Given the description of an element on the screen output the (x, y) to click on. 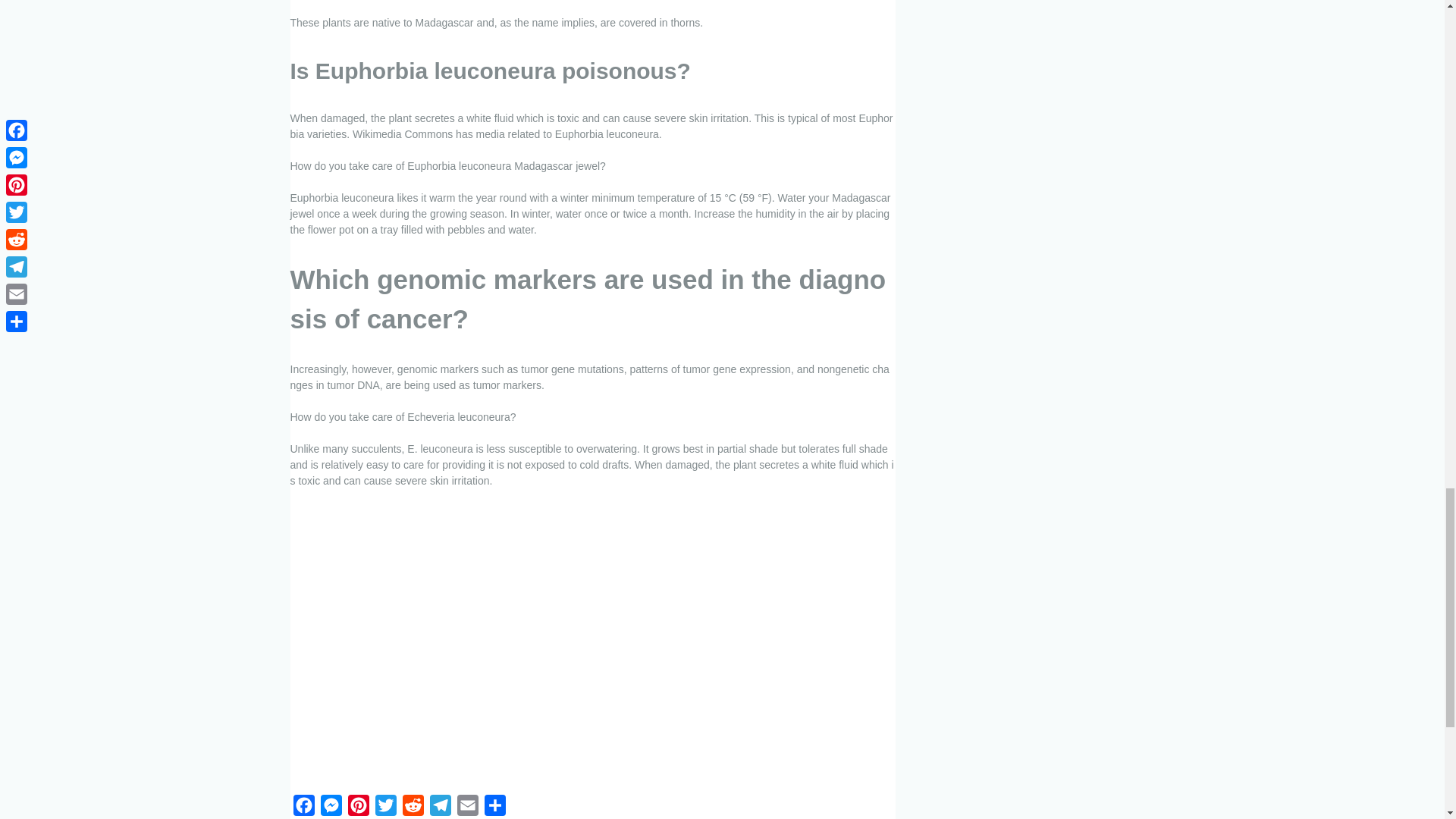
Pinterest (357, 806)
Facebook (303, 806)
Email (466, 806)
Twitter (384, 806)
Pinterest (357, 806)
Telegram (439, 806)
Reddit (412, 806)
Twitter (384, 806)
Email (466, 806)
Reddit (412, 806)
Messenger (330, 806)
Facebook (303, 806)
How to Care for Euphorbia Leuconeura (531, 641)
Messenger (330, 806)
Telegram (439, 806)
